Given the description of an element on the screen output the (x, y) to click on. 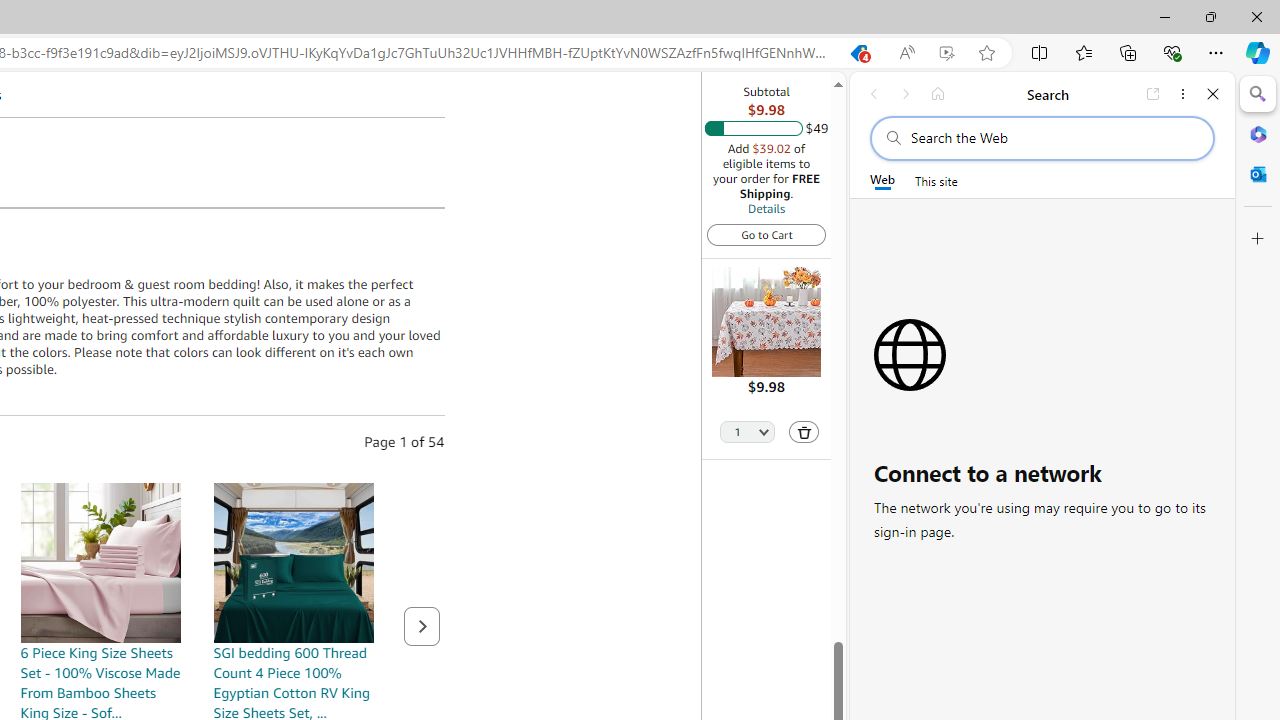
Next page of related Sponsored Products (421, 625)
Enhance video (946, 53)
Web scope (882, 180)
